Given the description of an element on the screen output the (x, y) to click on. 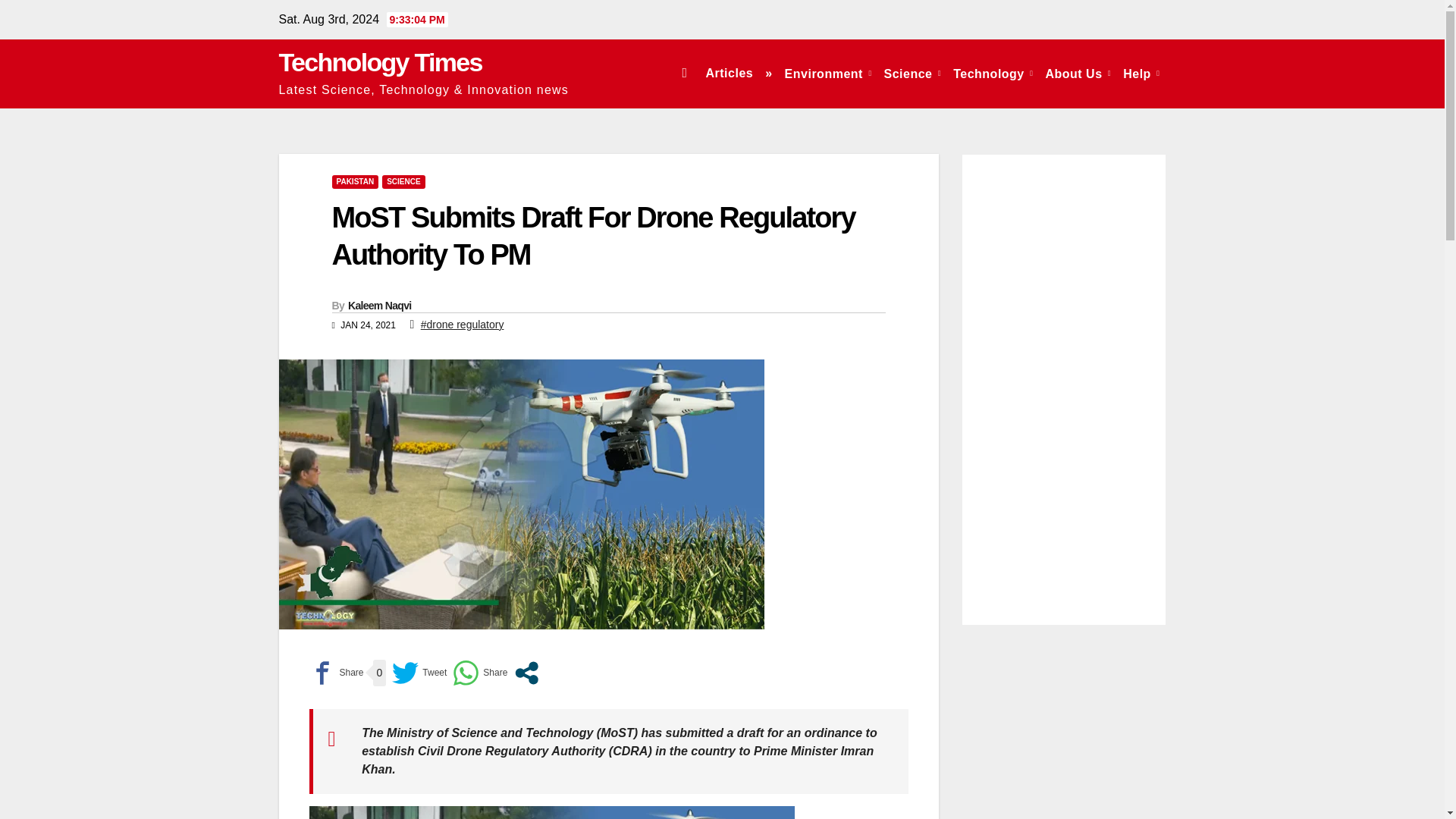
Technology Times (380, 61)
About Us (1077, 73)
Environment (827, 73)
Environment (827, 73)
Science (912, 73)
Technology (993, 73)
Technology (993, 73)
Science (912, 73)
